Given the description of an element on the screen output the (x, y) to click on. 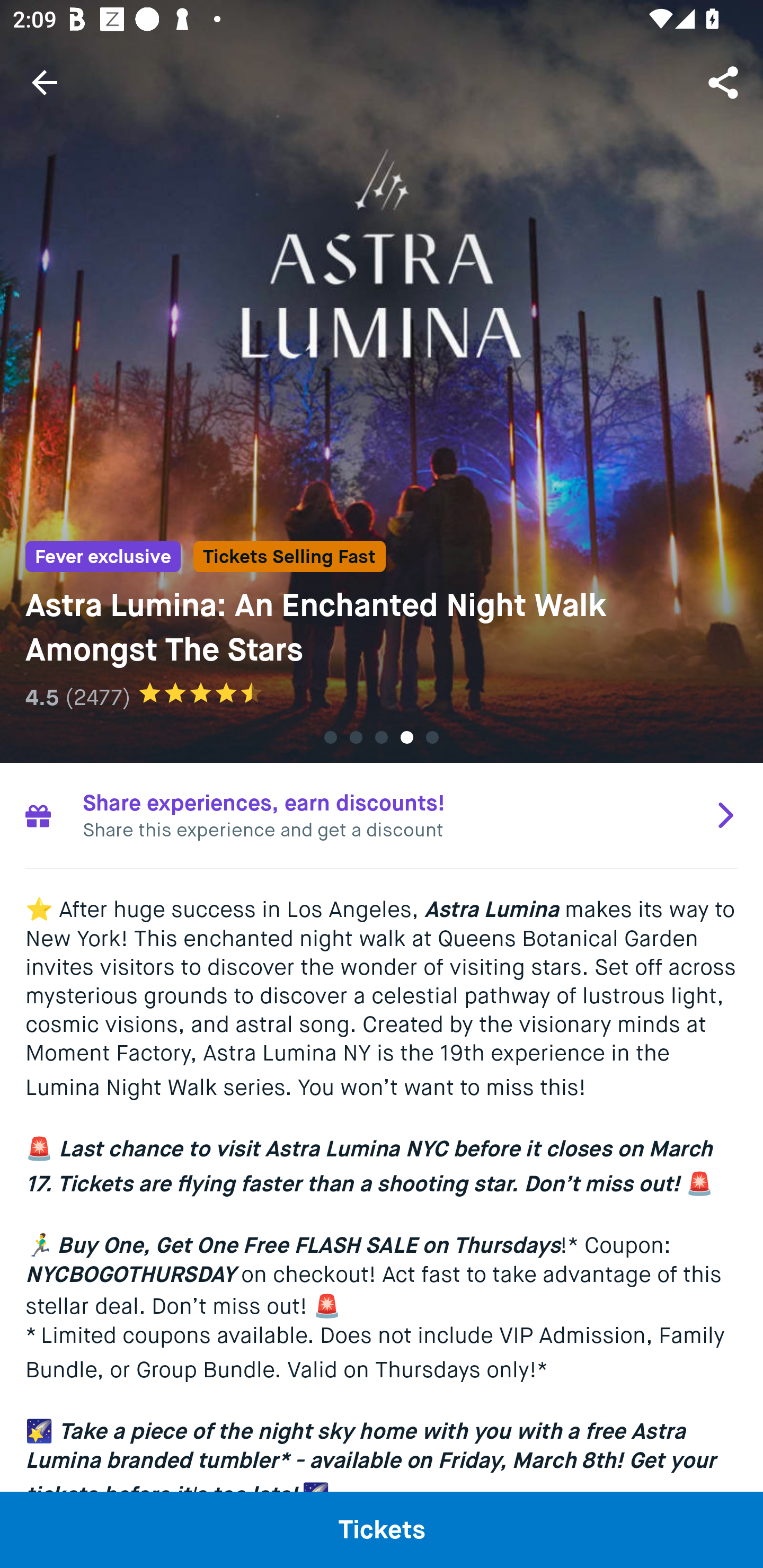
Navigate up (44, 82)
Share (724, 81)
(2477) (97, 697)
Tickets (381, 1529)
